Given the description of an element on the screen output the (x, y) to click on. 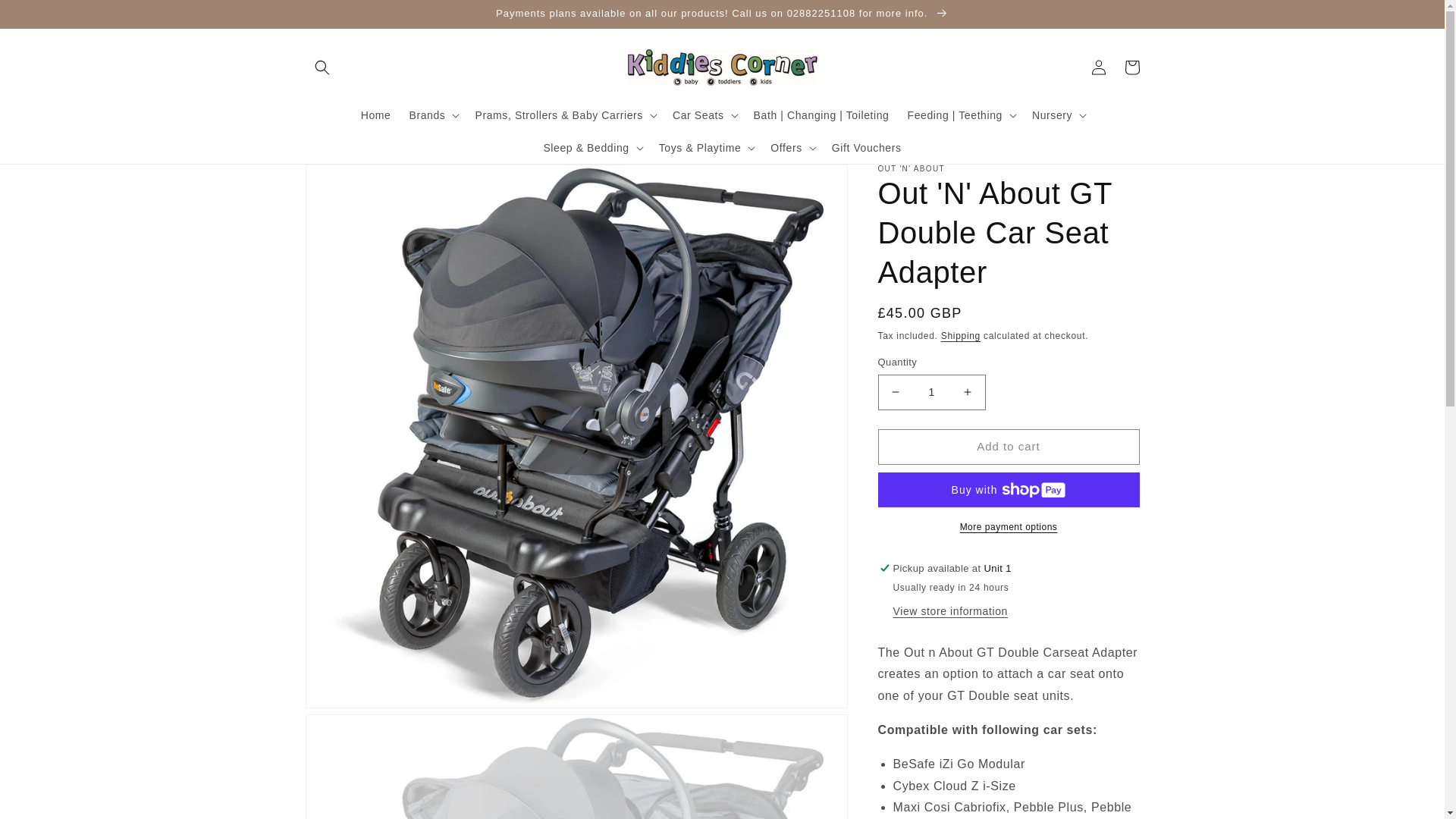
1 (931, 392)
Skip to content (45, 17)
